Given the description of an element on the screen output the (x, y) to click on. 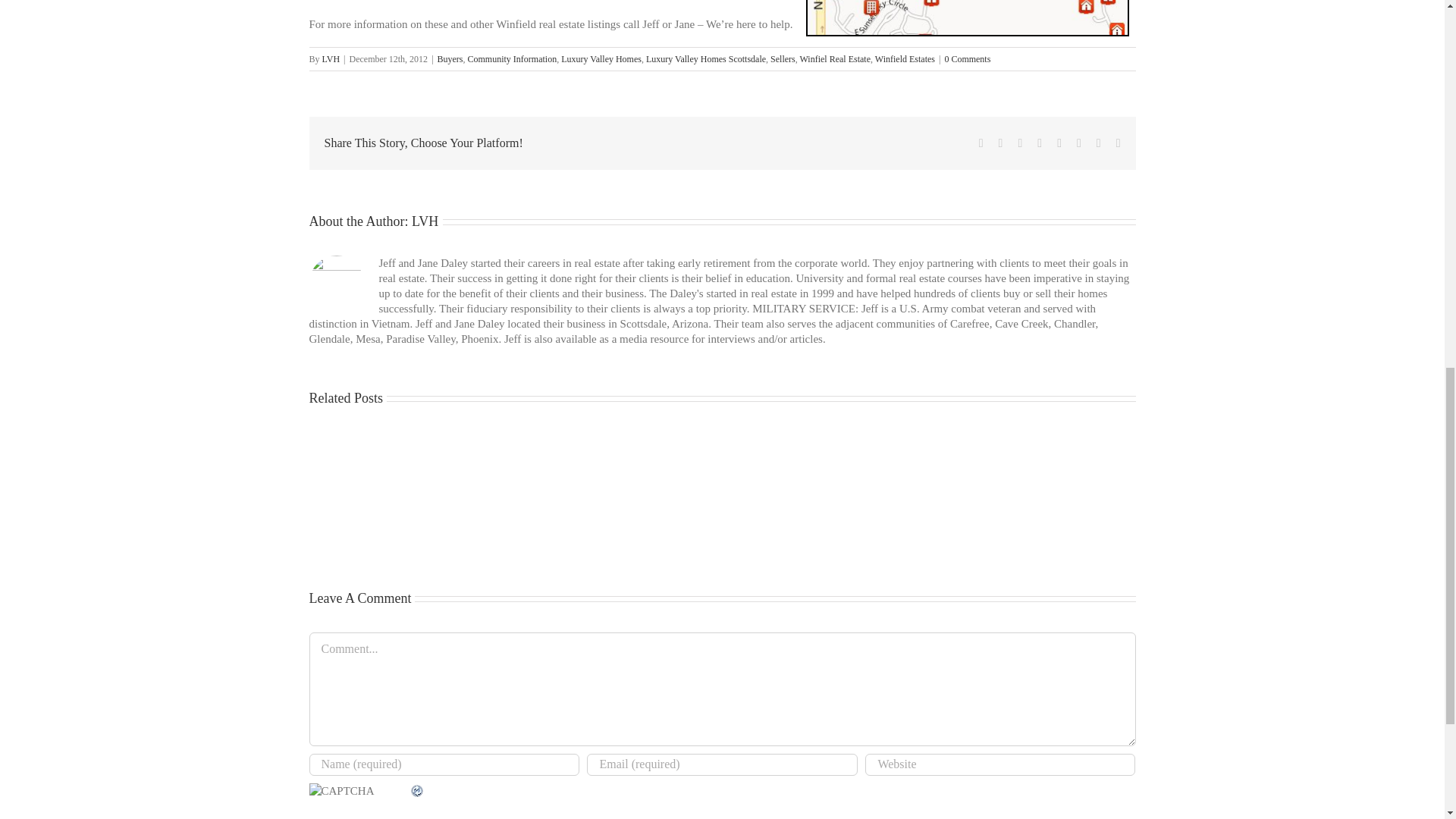
Posts by LVH (330, 59)
Winfield Real Estate Listings (966, 18)
